Given the description of an element on the screen output the (x, y) to click on. 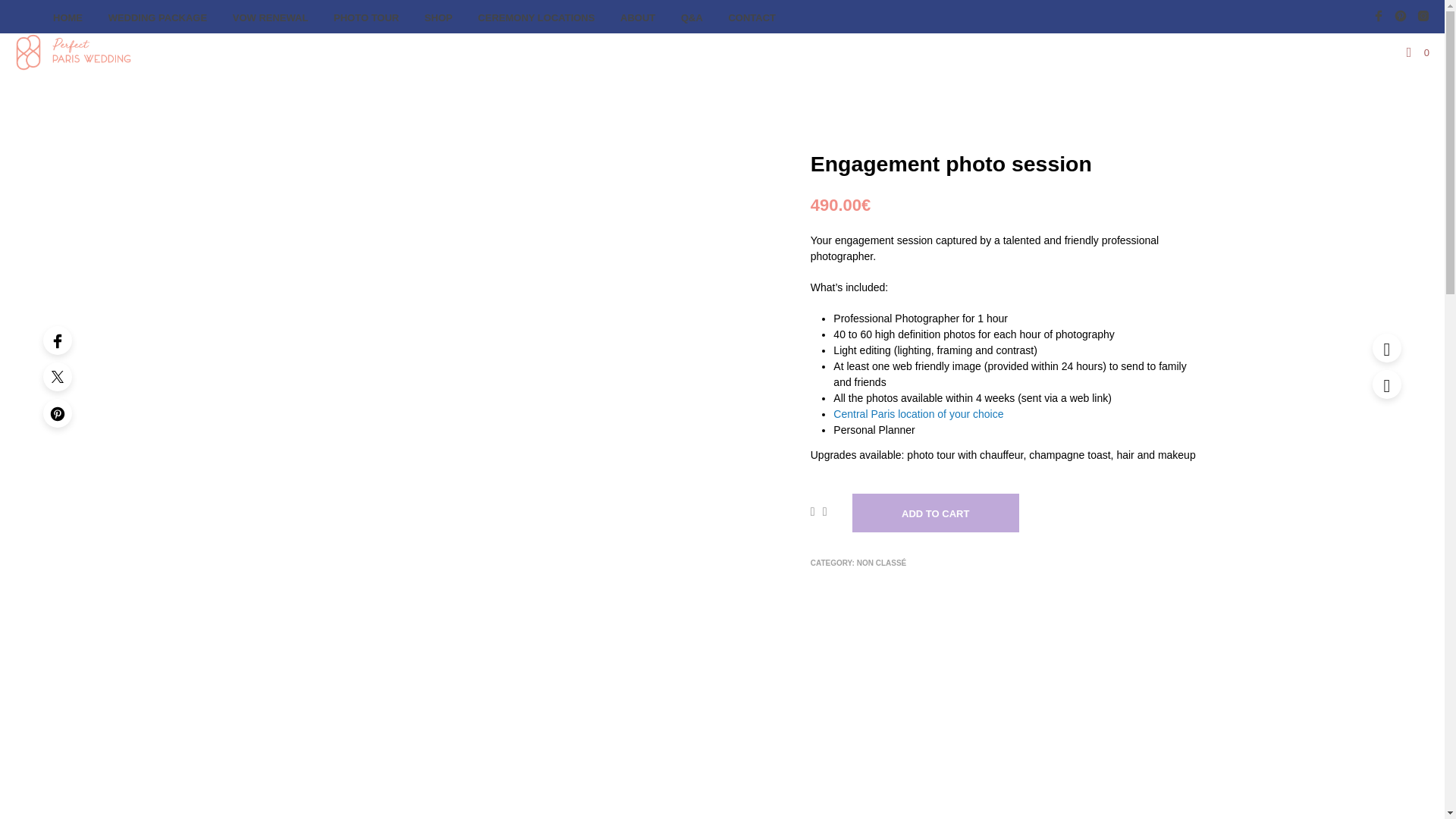
SHOP (438, 17)
CONTACT (751, 17)
ABOUT (637, 17)
WEDDING PACKAGE (157, 17)
0 (1417, 52)
HOME (68, 17)
Central Paris location of your choice (917, 413)
CEREMONY LOCATIONS (535, 17)
ADD TO CART (935, 512)
PHOTO TOUR (365, 17)
